Given the description of an element on the screen output the (x, y) to click on. 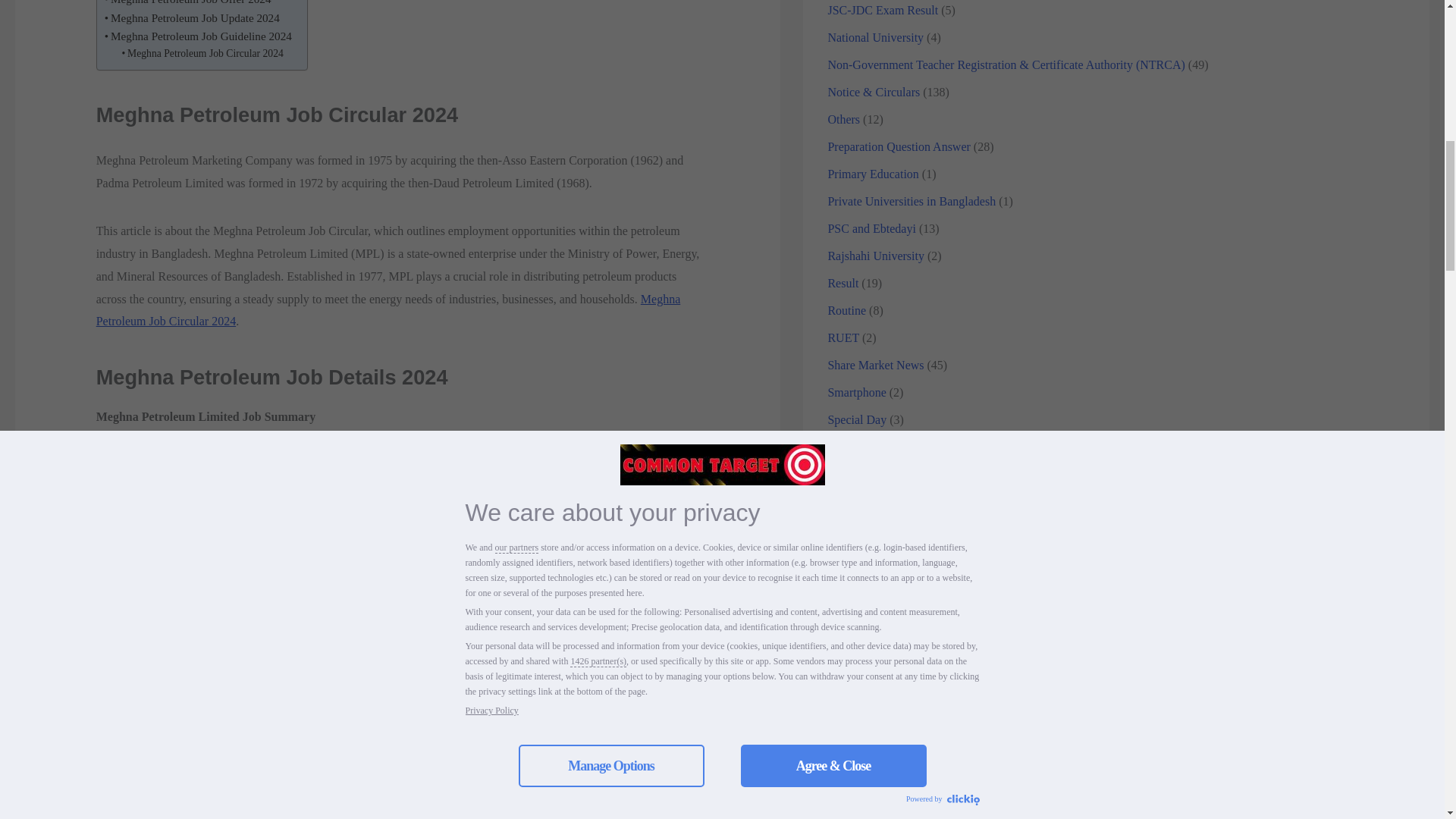
Meghna Petroleum Job Circular 2024 (388, 310)
Meghna Petroleum Job Circular 2024 (202, 53)
Meghna Petroleum Job Update 2024 (191, 18)
Meghna Petroleum Job Update 2024 (191, 18)
Meghna Petroleum Job Offer 2024 (187, 4)
Meghna Petroleum Job Guideline 2024 (198, 36)
Meghna Petroleum Job Offer 2024 (187, 4)
Meghna Petroleum Job Circular 2024 (202, 53)
Meghna Petroleum Job Guideline 2024 (198, 36)
